Given the description of an element on the screen output the (x, y) to click on. 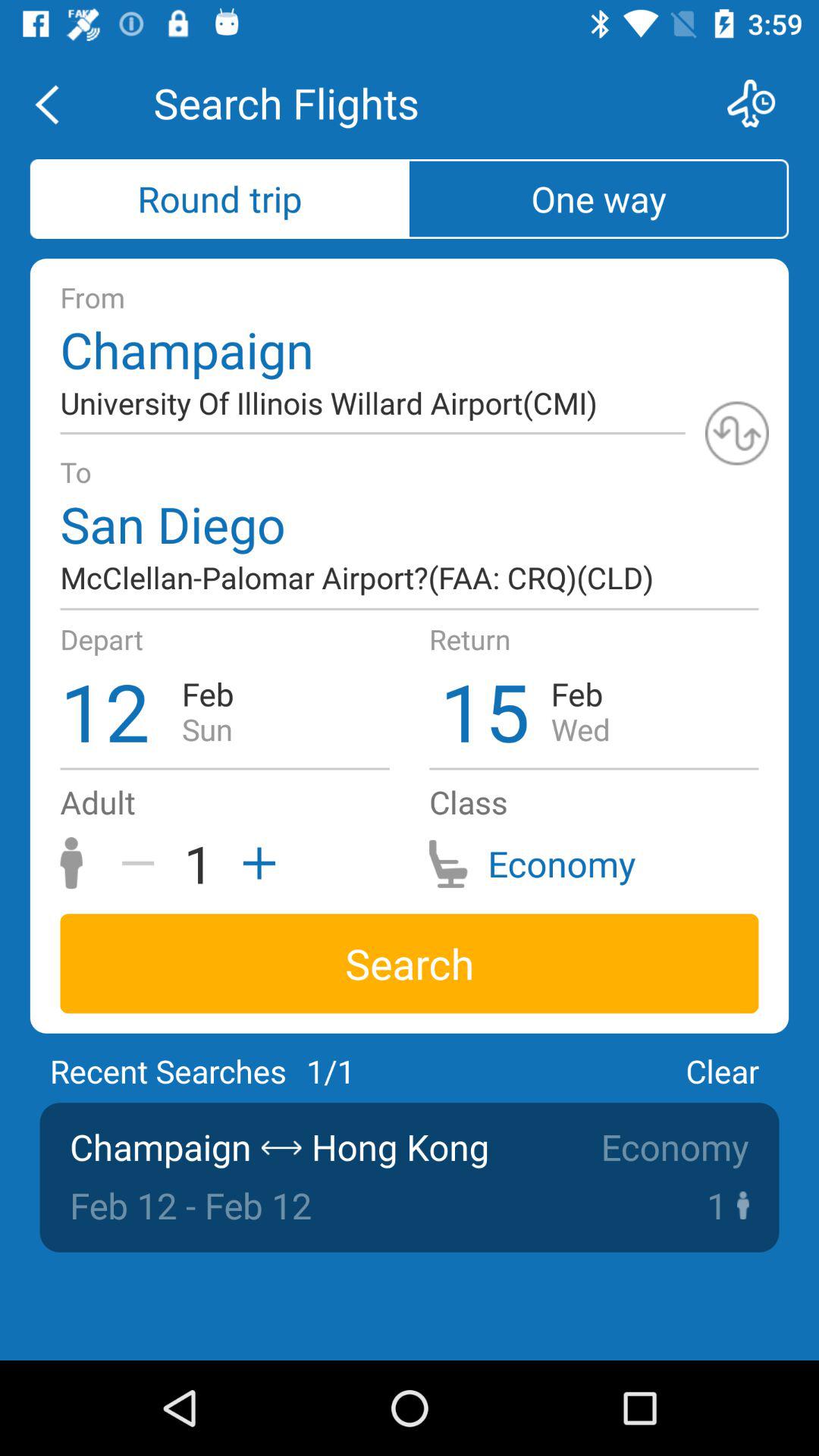
press clear icon (722, 1070)
